Given the description of an element on the screen output the (x, y) to click on. 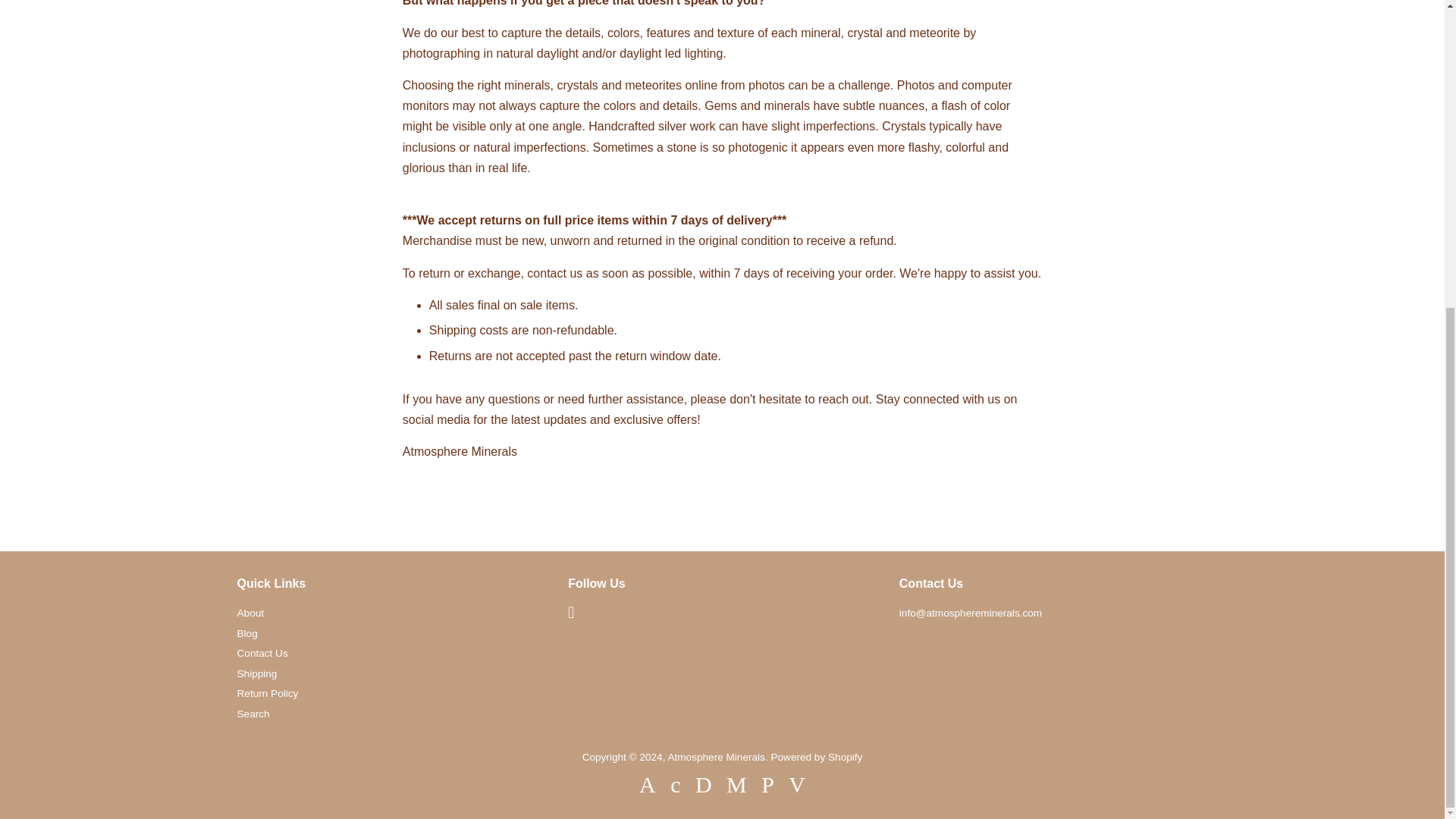
About (249, 613)
Search (252, 713)
Atmosphere Minerals (715, 756)
Contact Us (260, 653)
Shipping (255, 673)
Powered by Shopify (815, 756)
Return Policy (266, 693)
Blog (246, 633)
